Given the description of an element on the screen output the (x, y) to click on. 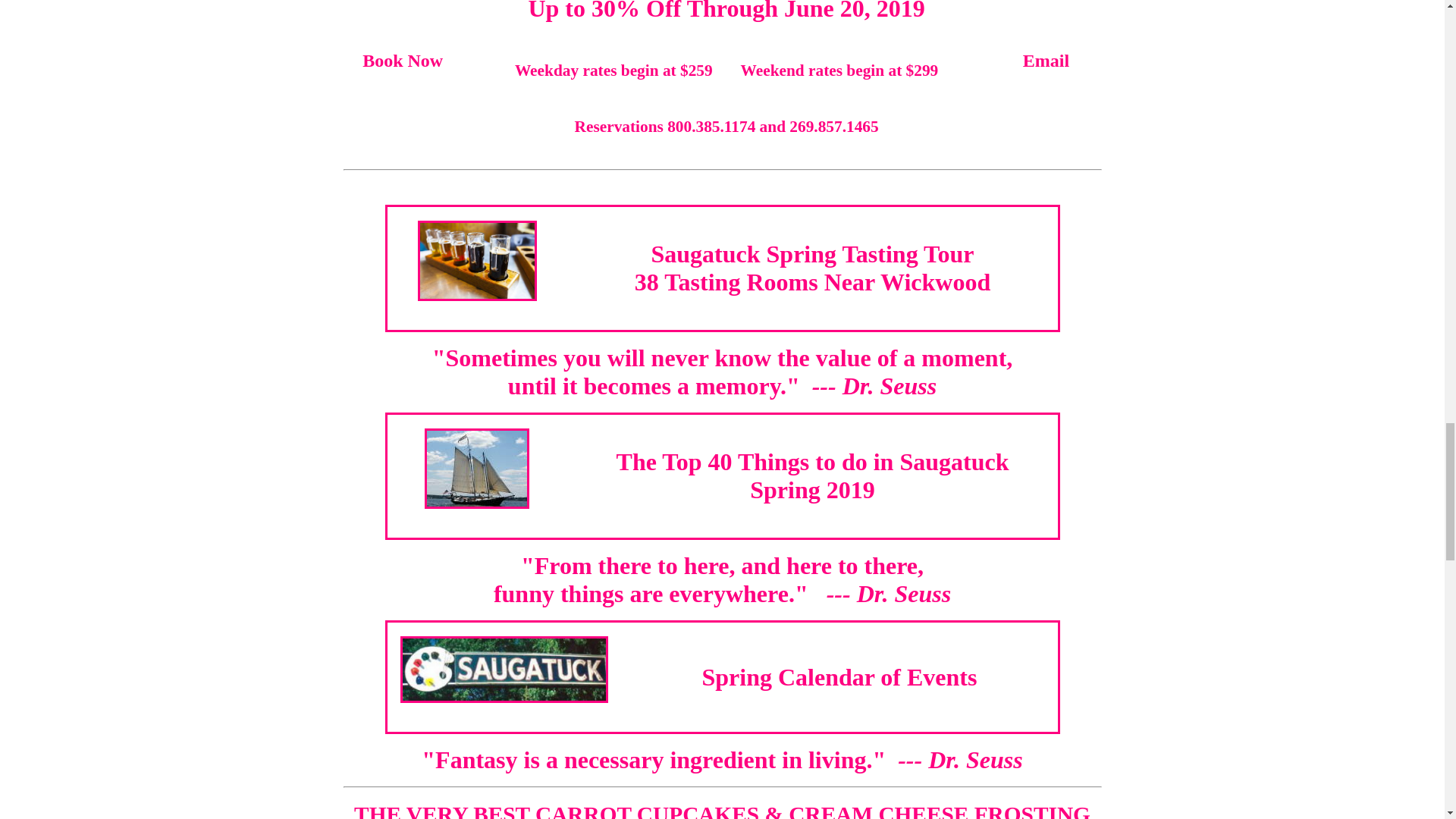
The Top 40 Things to do in Saugatuck (812, 461)
Spring Calendar of Events (838, 676)
Spring 2019 (812, 489)
Email (1045, 59)
Book Now (812, 267)
